Given the description of an element on the screen output the (x, y) to click on. 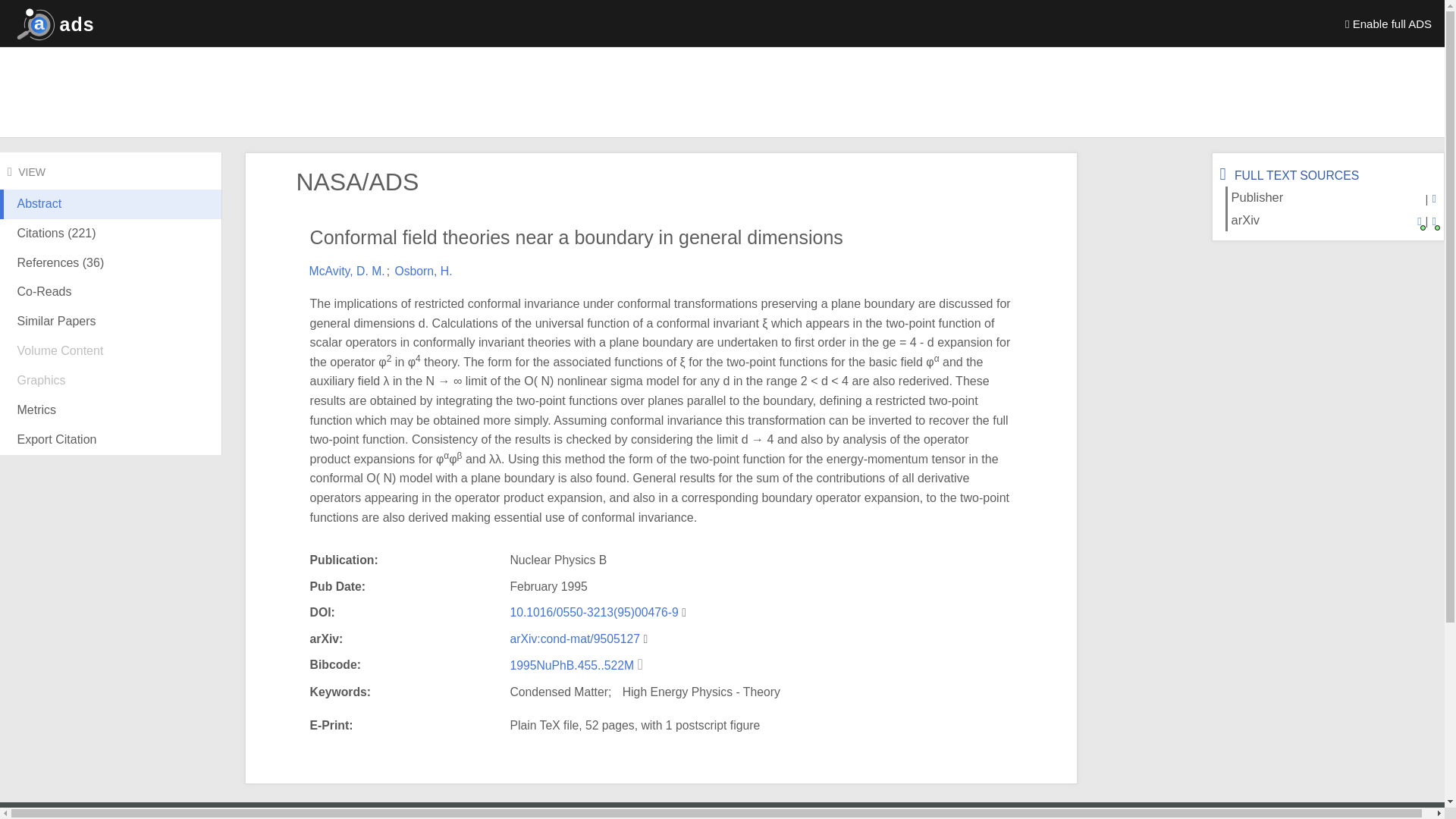
ads (51, 22)
Osborn, H. (422, 270)
Co-Reads (110, 292)
Export Citation (110, 440)
Abstract (110, 215)
Similar Papers (110, 321)
1995NuPhB.455..522M (573, 665)
Metrics (110, 410)
McAvity, D. M. (346, 270)
Enable full ADS (1388, 23)
